Given the description of an element on the screen output the (x, y) to click on. 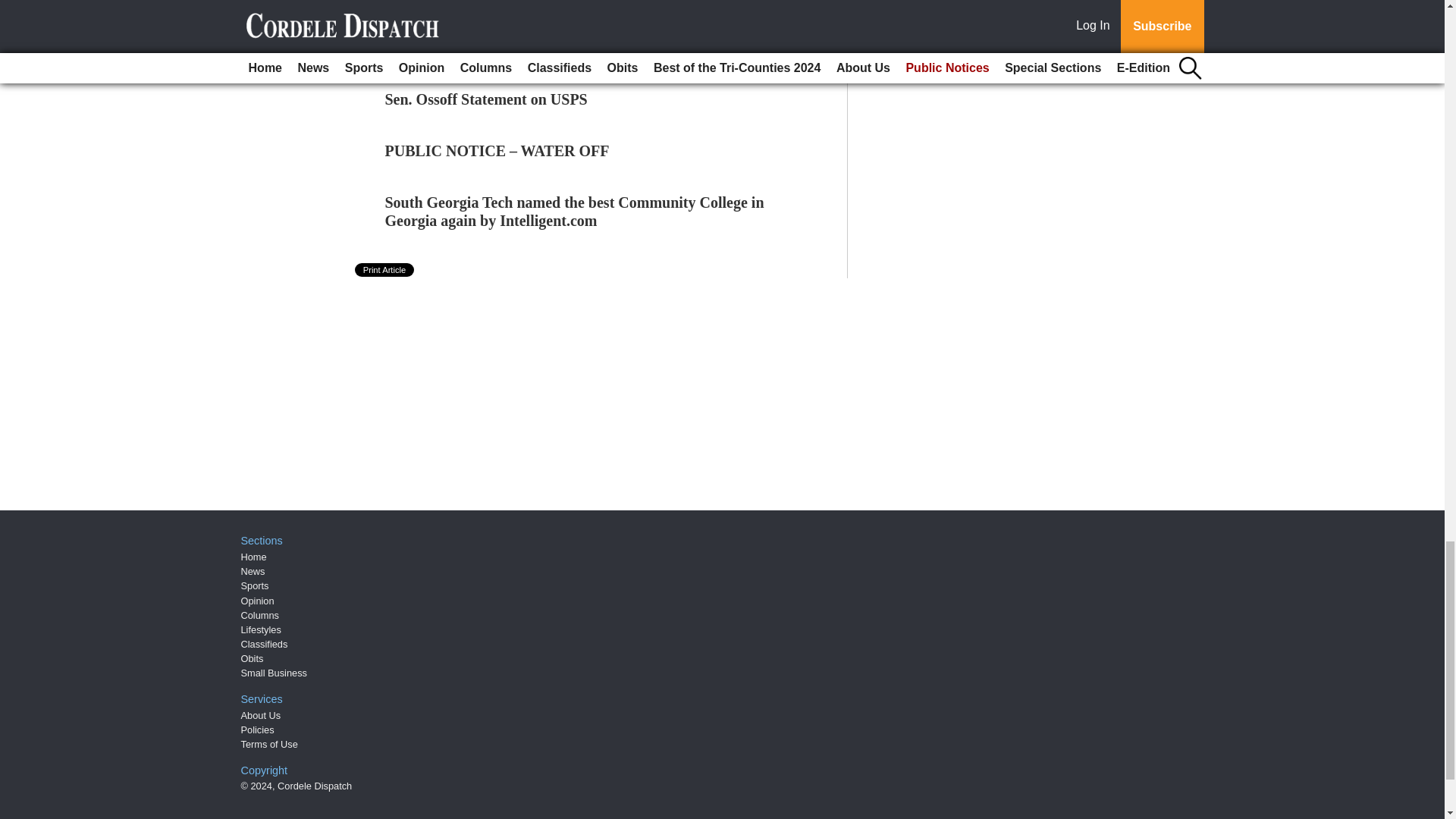
About Us (261, 715)
Home (253, 556)
Wilcox County Election Results (487, 47)
Policies (258, 729)
Print Article (384, 269)
Wilcox County Election Results (487, 47)
Obits (252, 658)
Sen. Ossoff Statement on USPS (486, 98)
Terms of Use (269, 744)
Opinion (258, 600)
News (252, 571)
Small Business (274, 672)
Sports (255, 585)
